Given the description of an element on the screen output the (x, y) to click on. 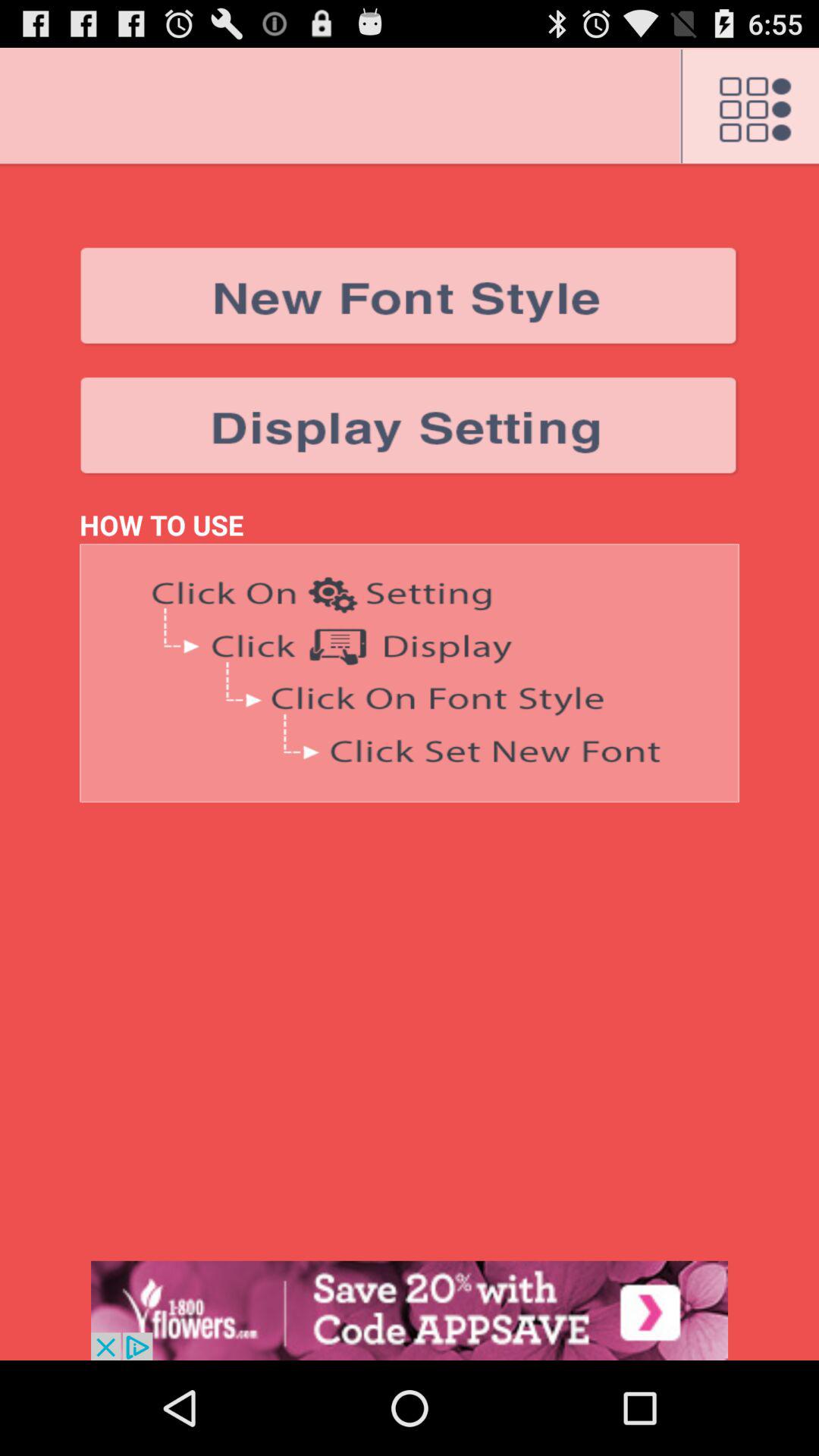
new font style (409, 296)
